Given the description of an element on the screen output the (x, y) to click on. 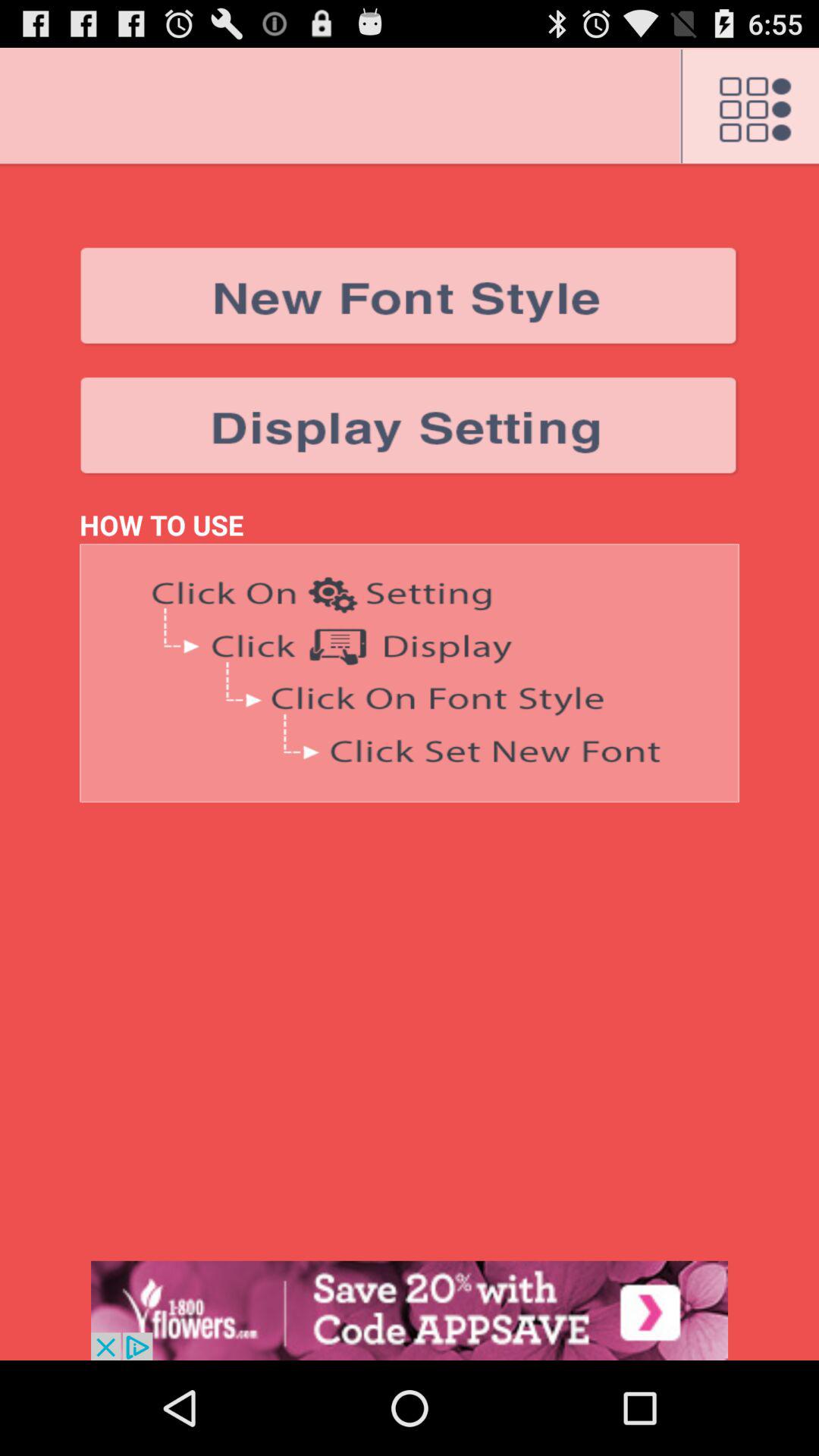
new font style (409, 296)
